Given the description of an element on the screen output the (x, y) to click on. 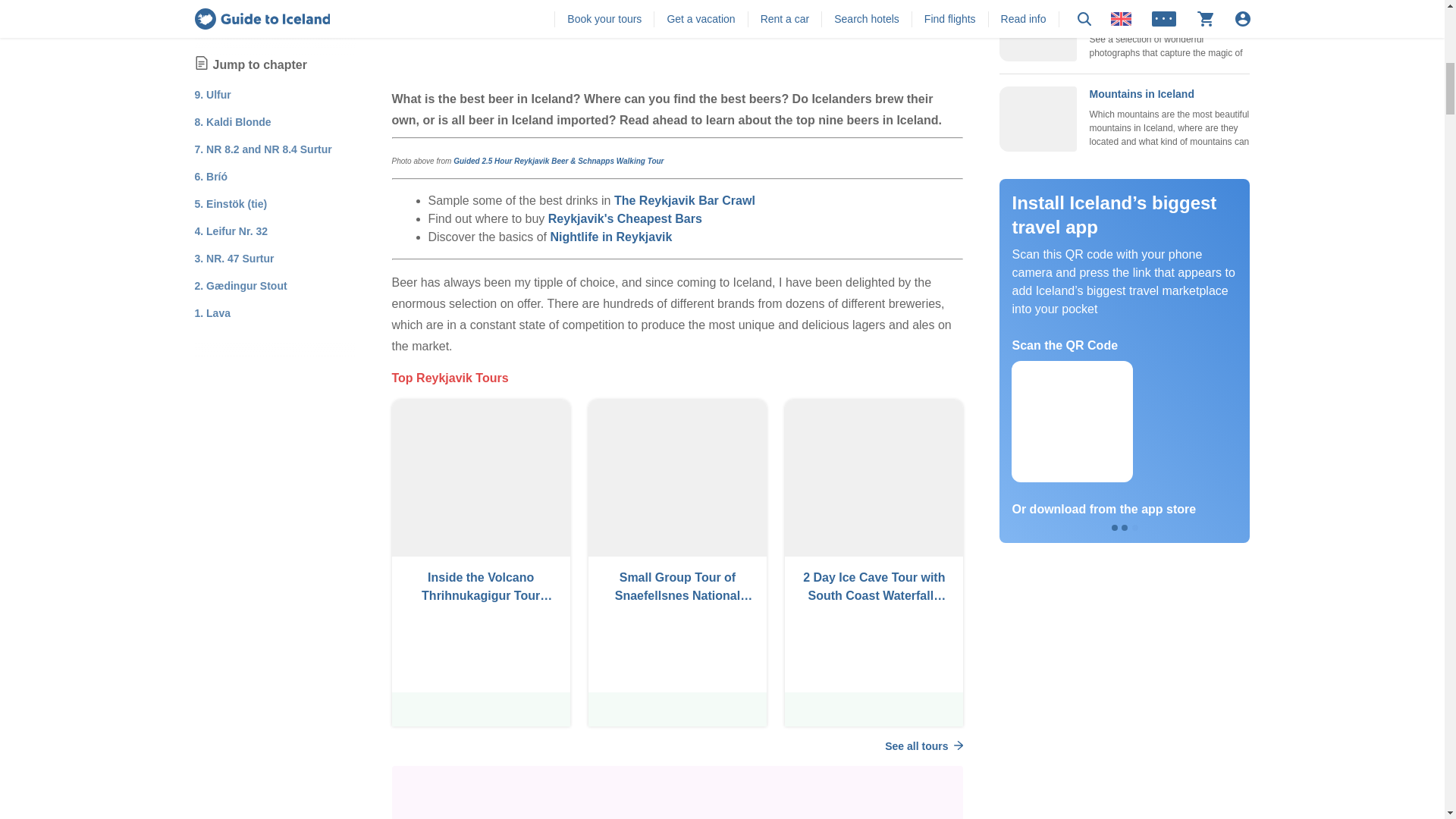
Reykjavik's Cheapest Bars (624, 218)
Top Reykjavik Tours (449, 377)
Nightlife in Reykjavik (610, 236)
See all tours (923, 745)
Beers from a tour in Reykjavik. (676, 38)
The Reykjavik Bar Crawl (684, 200)
You can even bathe in beer at the Bjorbod beer spa! (676, 792)
